Given the description of an element on the screen output the (x, y) to click on. 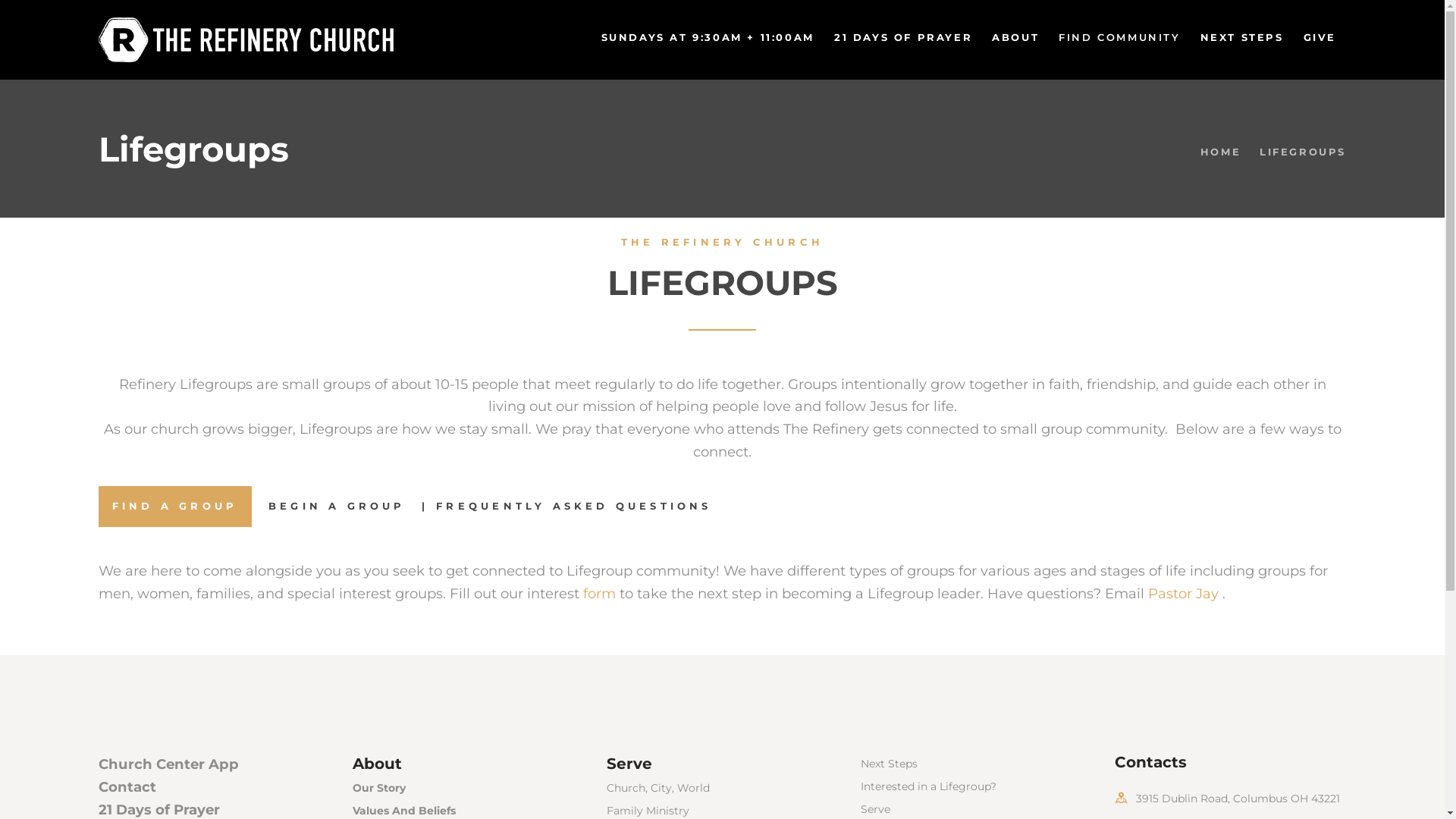
form Element type: text (599, 593)
Interested in a Lifegroup? Element type: text (928, 786)
Contact Element type: text (127, 786)
GIVE Element type: text (1319, 37)
BEGIN A GROUP Element type: text (336, 506)
Serve Element type: text (629, 763)
About Element type: text (376, 763)
Family Ministry Element type: text (647, 810)
Next Steps Element type: text (888, 763)
FIND COMMUNITY Element type: text (1118, 37)
Pastor Jay Element type: text (1183, 593)
FREQUENTLY ASKED QUESTIONS Element type: text (573, 506)
Our Story Element type: text (378, 787)
FIND A GROUP Element type: text (174, 506)
NEXT STEPS Element type: text (1241, 37)
HOME Element type: text (1220, 152)
ABOUT Element type: text (1015, 37)
Church Center App Element type: text (168, 763)
Serve Element type: text (875, 808)
21 DAYS OF PRAYER Element type: text (903, 37)
21 Days of Prayer Element type: text (158, 809)
Values And Beliefs Element type: text (403, 810)
SUNDAYS AT 9:30AM + 11:00AM Element type: text (707, 37)
Church, City, World Element type: text (657, 787)
